Given the description of an element on the screen output the (x, y) to click on. 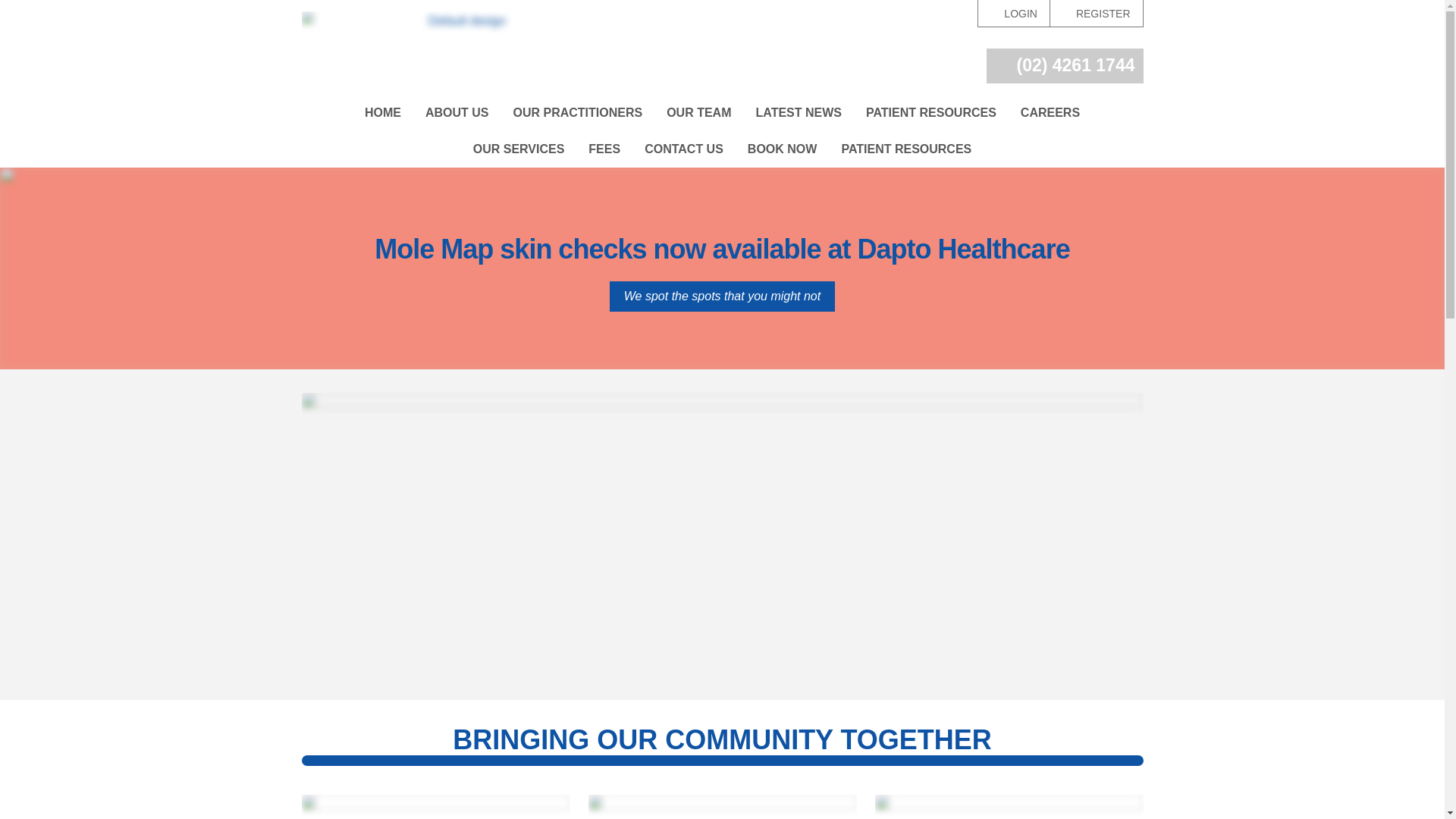
LOGIN Element type: text (1013, 13)
OUR TEAM Element type: text (698, 112)
REGISTER Element type: text (1096, 13)
PATIENT RESOURCES Element type: text (905, 149)
HOME Element type: text (382, 112)
CAREERS Element type: text (1050, 112)
OUR SERVICES Element type: text (519, 149)
ABOUT US Element type: text (457, 112)
(02) 4261 1744 Element type: text (1064, 65)
BOOK NOW Element type: text (782, 149)
CONTACT US Element type: text (683, 149)
Mole Map skin checks now available at Dapto Healthcare Element type: text (721, 248)
OUR PRACTITIONERS Element type: text (577, 112)
LATEST NEWS Element type: text (798, 112)
We spot the spots that you might not Element type: text (721, 296)
FEES Element type: text (604, 149)
PATIENT RESOURCES Element type: text (930, 112)
